Given the description of an element on the screen output the (x, y) to click on. 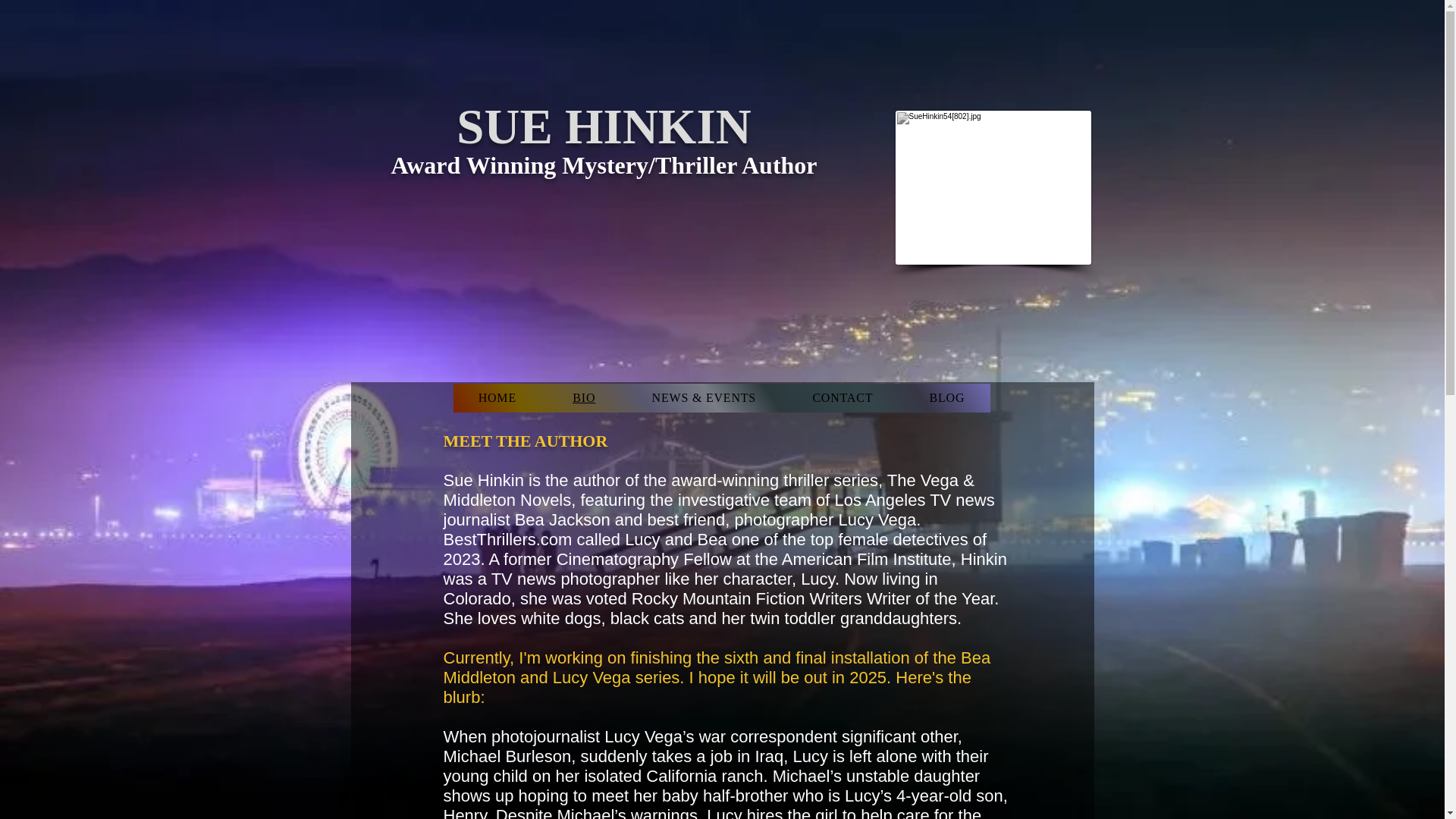
BIO (583, 398)
BLOG (947, 398)
CONTACT (842, 398)
HOME (496, 398)
